Given the description of an element on the screen output the (x, y) to click on. 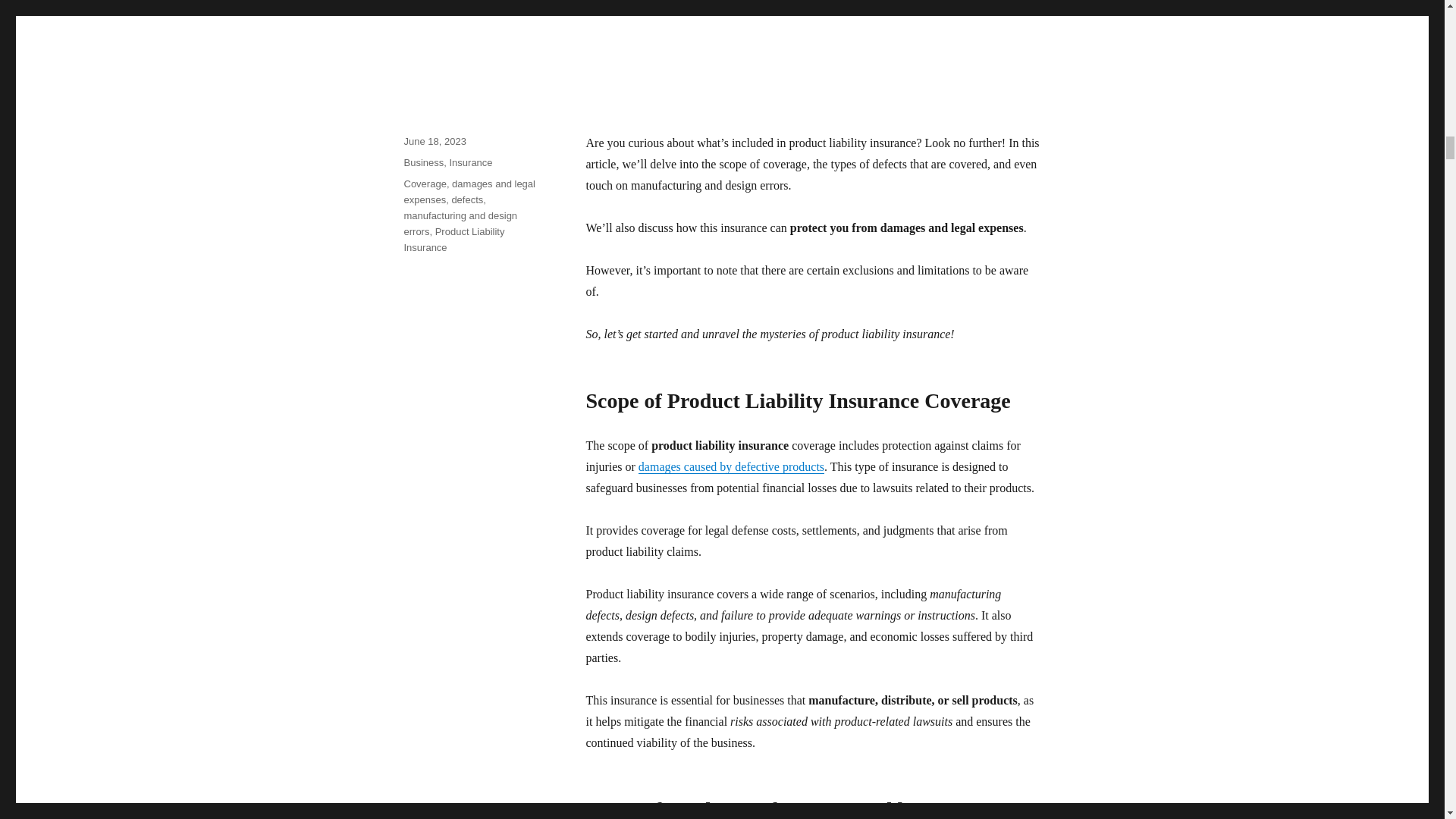
Coverage (424, 183)
Insurance (470, 162)
damages and legal expenses (468, 191)
June 18, 2023 (434, 141)
defects (467, 199)
Business (423, 162)
damages caused by defective products (731, 466)
Product Liability Insurance (453, 239)
manufacturing and design errors (459, 223)
